Given the description of an element on the screen output the (x, y) to click on. 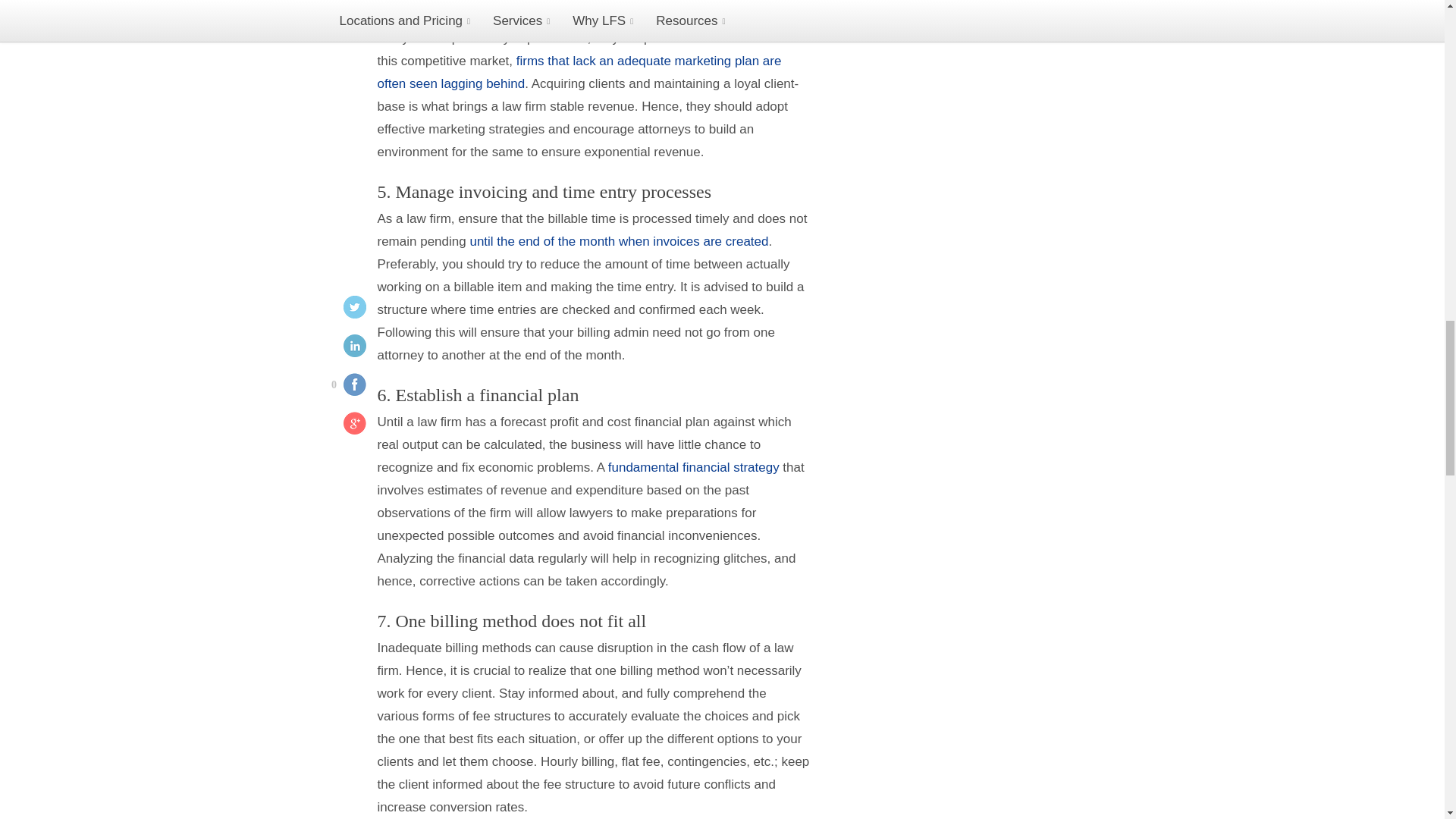
fundamental financial strategy (693, 467)
until the end of the month when invoices are created (618, 241)
